Given the description of an element on the screen output the (x, y) to click on. 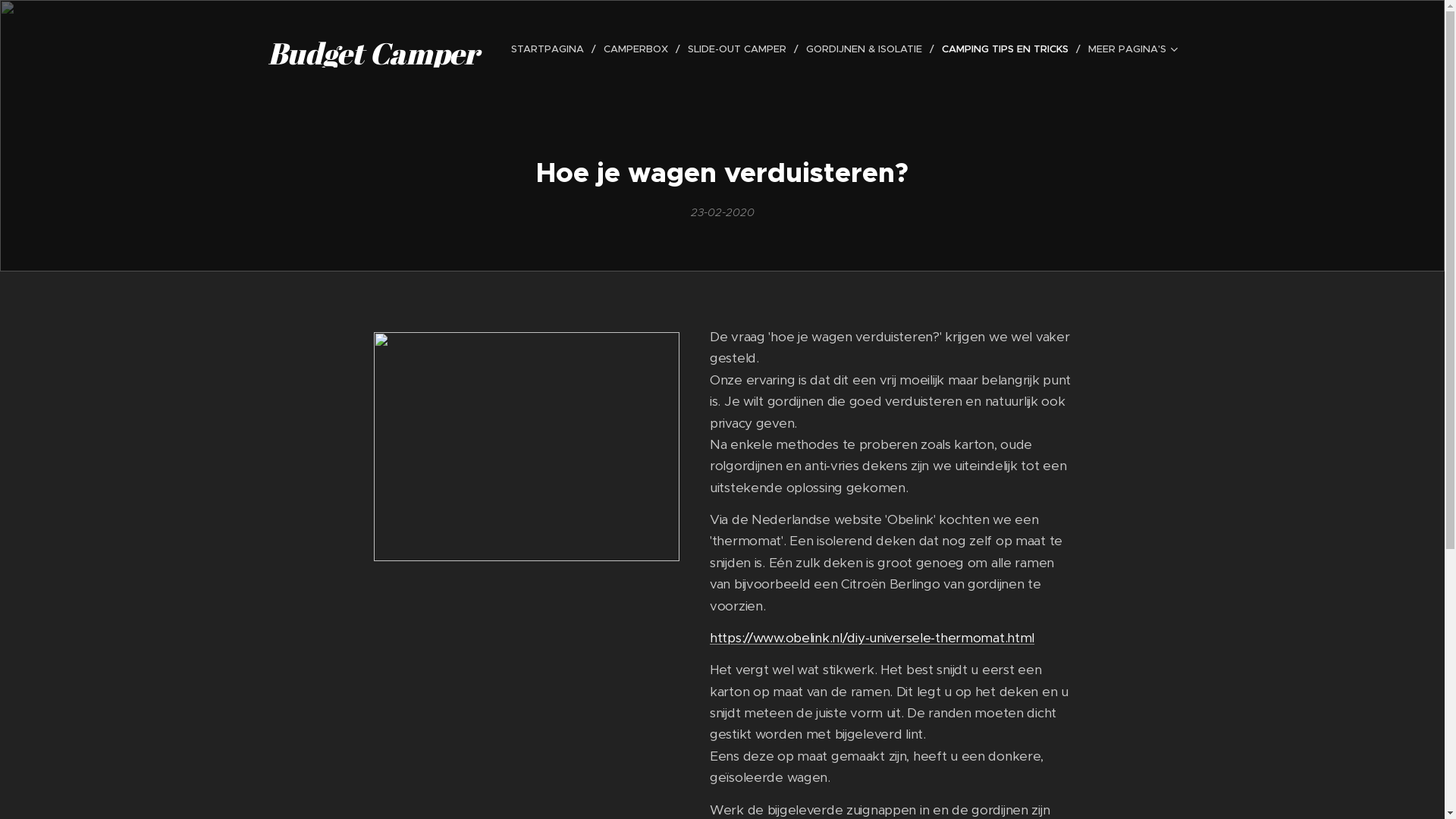
https://www.obelink.nl/diy-universele-thermomat.html Element type: text (871, 637)
Budget Camper Element type: text (373, 49)
SLIDE-OUT CAMPER Element type: text (738, 49)
GORDIJNEN & ISOLATIE Element type: text (865, 49)
STARTPAGINA Element type: text (550, 49)
MEER PAGINA'S Element type: text (1127, 49)
CAMPERBOX Element type: text (638, 49)
CAMPING TIPS EN TRICKS Element type: text (1007, 49)
